Given the description of an element on the screen output the (x, y) to click on. 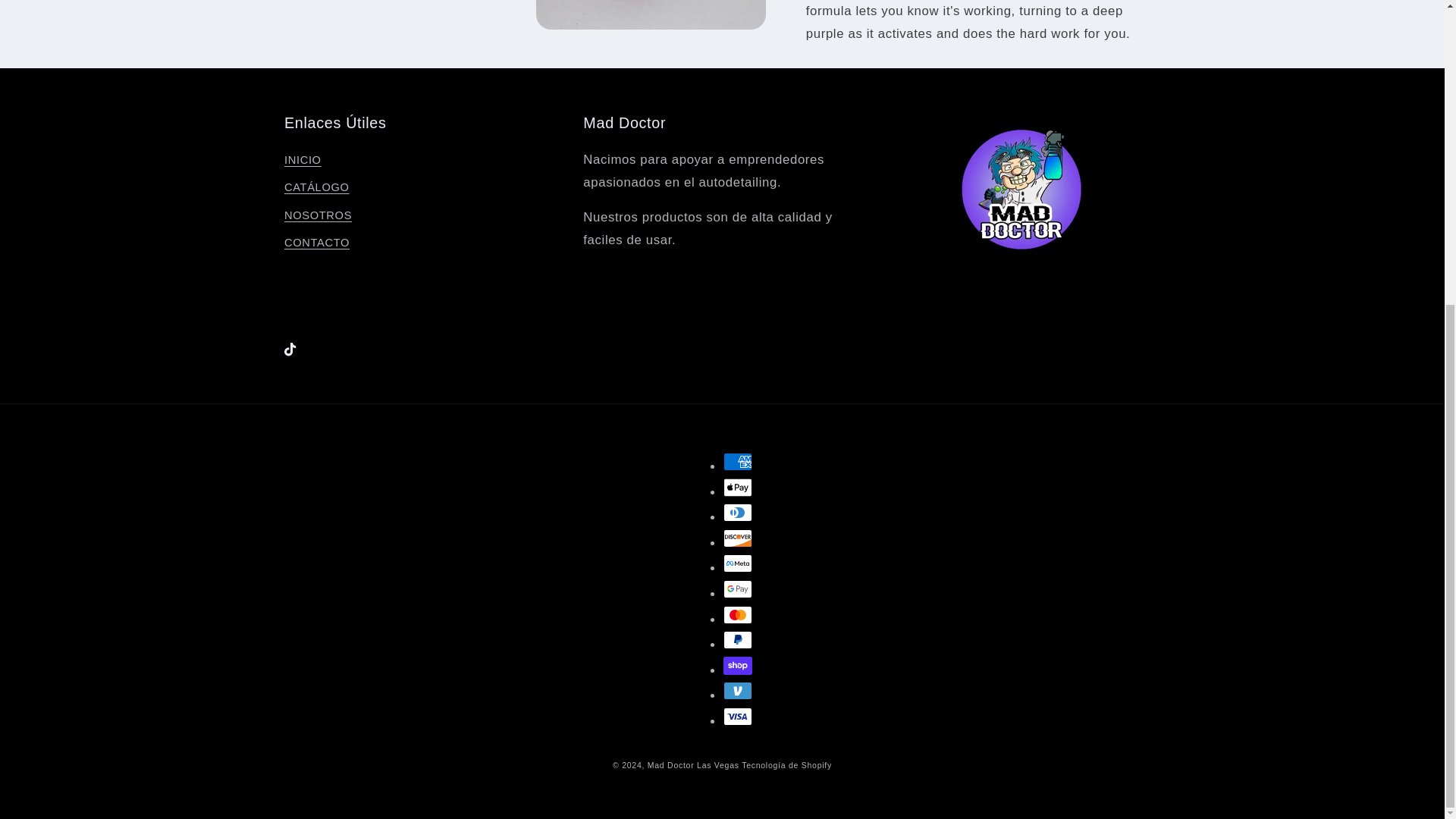
Shop Pay (737, 665)
INICIO (302, 162)
PayPal (737, 639)
American Express (737, 461)
NOSOTROS (317, 216)
Discover (737, 538)
Apple Pay (737, 487)
Visa (737, 716)
CONTACTO (316, 243)
Google Pay (737, 588)
